Given the description of an element on the screen output the (x, y) to click on. 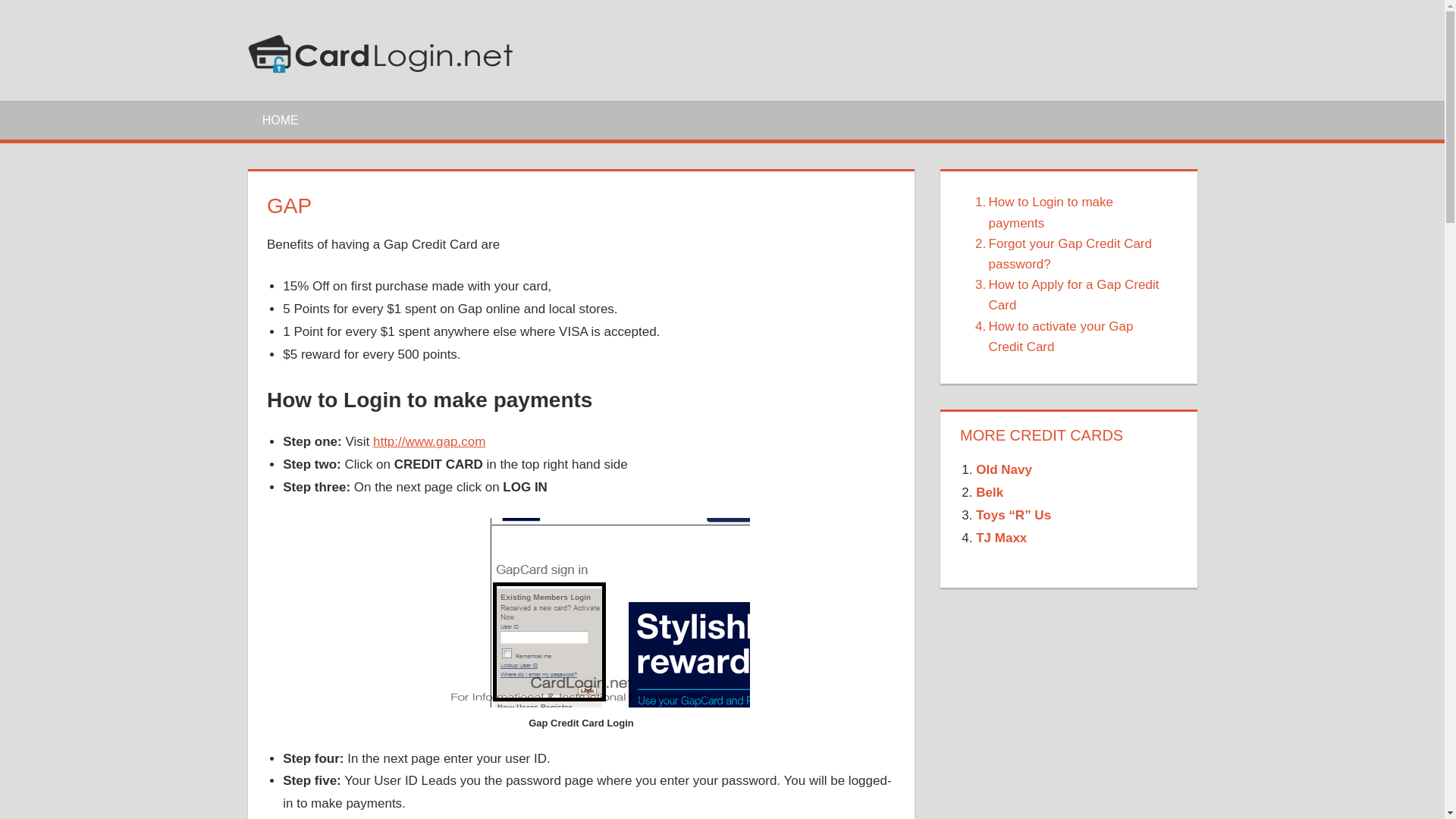
Forgot your Gap Credit Card password? (1069, 253)
HOME (280, 119)
Old Navy (1003, 469)
How to Login to make payments (1069, 211)
How to Apply for a Gap Credit Card (1069, 294)
Belk (989, 492)
TJ Maxx (1000, 537)
How to Login to make payments (1069, 211)
How to activate your Gap Credit Card (1069, 336)
Forgot your Gap Credit Card password? (1069, 253)
